Given the description of an element on the screen output the (x, y) to click on. 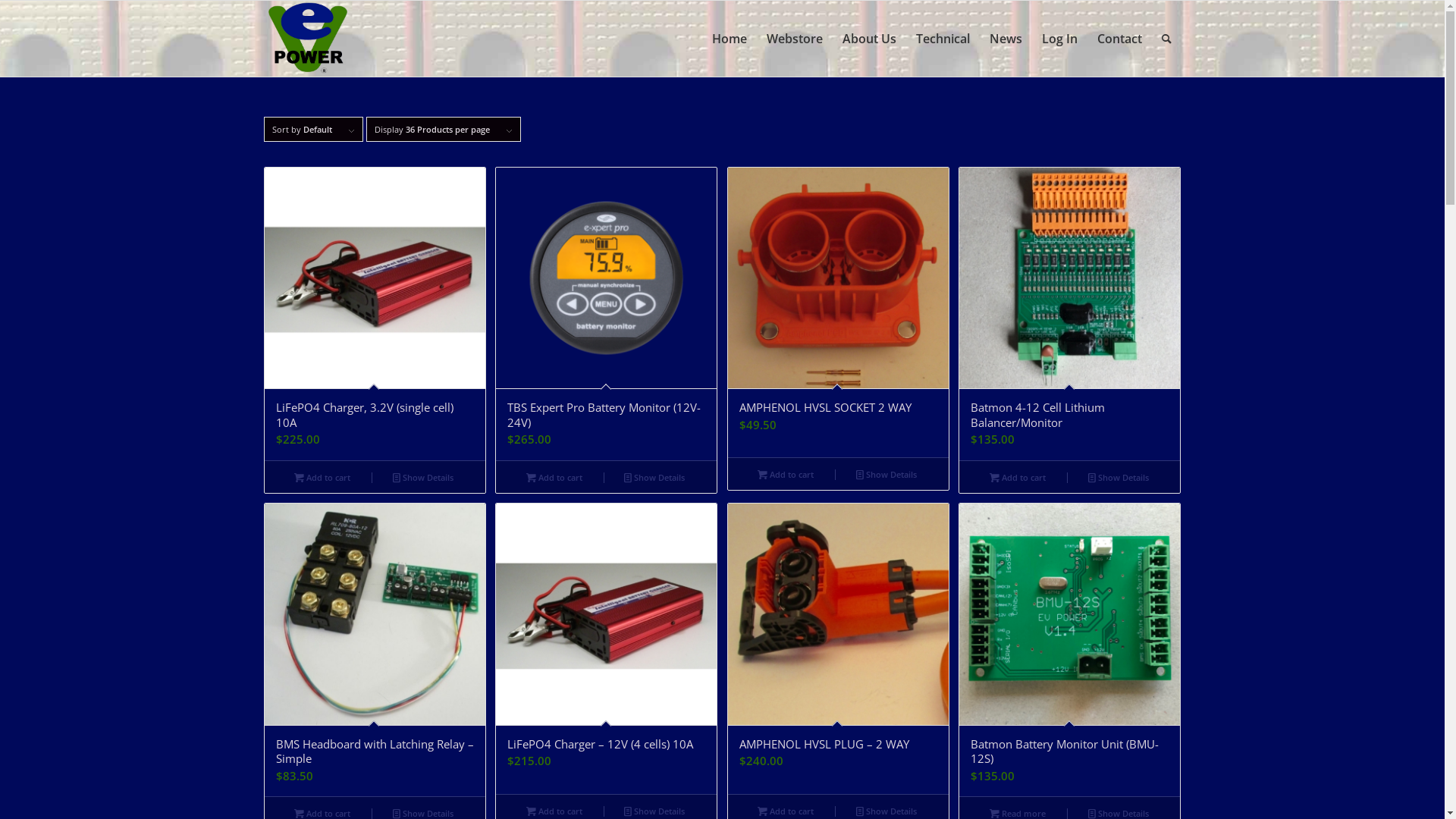
Log In Element type: text (1058, 38)
Add to cart Element type: text (785, 473)
Contact Element type: text (1119, 38)
TBS Expert Pro Battery Monitor (12V-24V)
$265.00 Element type: text (605, 313)
eV_power_web Element type: hover (307, 38)
AMPHENOL HVSL SOCKET 2 WAY
$49.50 Element type: text (838, 312)
Show Details Element type: text (654, 476)
Batmon Battery Monitor Unit (BMU-12S)
$135.00 Element type: text (1069, 649)
News Element type: text (1005, 38)
LiFePO4 Charger, 3.2V (single cell) 10A
$225.00 Element type: text (373, 313)
Add to cart Element type: text (321, 476)
Show Details Element type: text (422, 476)
Add to cart Element type: text (1016, 476)
Show Details Element type: text (1117, 476)
Technical Element type: text (942, 38)
Home Element type: text (729, 38)
About Us Element type: text (869, 38)
Webstore Element type: text (794, 38)
Batmon 4-12 Cell Lithium Balancer/Monitor
$135.00 Element type: text (1069, 313)
Show Details Element type: text (886, 473)
Add to cart Element type: text (553, 476)
